Given the description of an element on the screen output the (x, y) to click on. 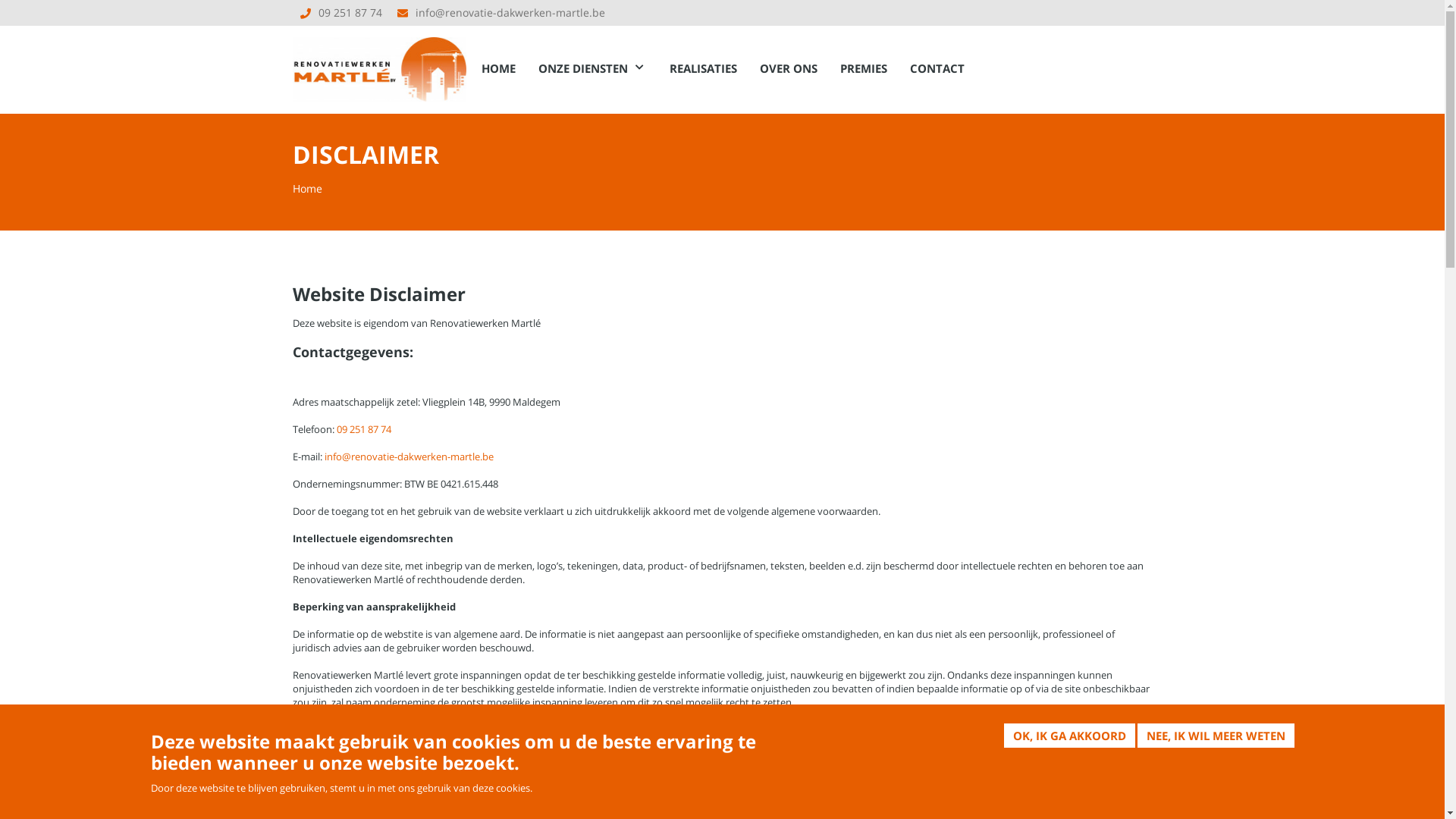
09 251 87 74 Element type: text (363, 428)
PREMIES Element type: text (863, 68)
OK, IK GA AKKOORD Element type: text (1069, 735)
HOME Element type: text (498, 68)
ONZE DIENSTEN Element type: text (592, 68)
info@renovatie-dakwerken-martle.be Element type: text (408, 455)
info@renovatie-dakwerken-martle.be Element type: text (510, 12)
09 251 87 74 Element type: text (350, 12)
REALISATIES Element type: text (703, 68)
NEE, IK WIL MEER WETEN Element type: text (1215, 735)
Home Element type: hover (379, 63)
CONTACT Element type: text (937, 68)
Home Element type: text (307, 187)
OVER ONS Element type: text (788, 68)
